Given the description of an element on the screen output the (x, y) to click on. 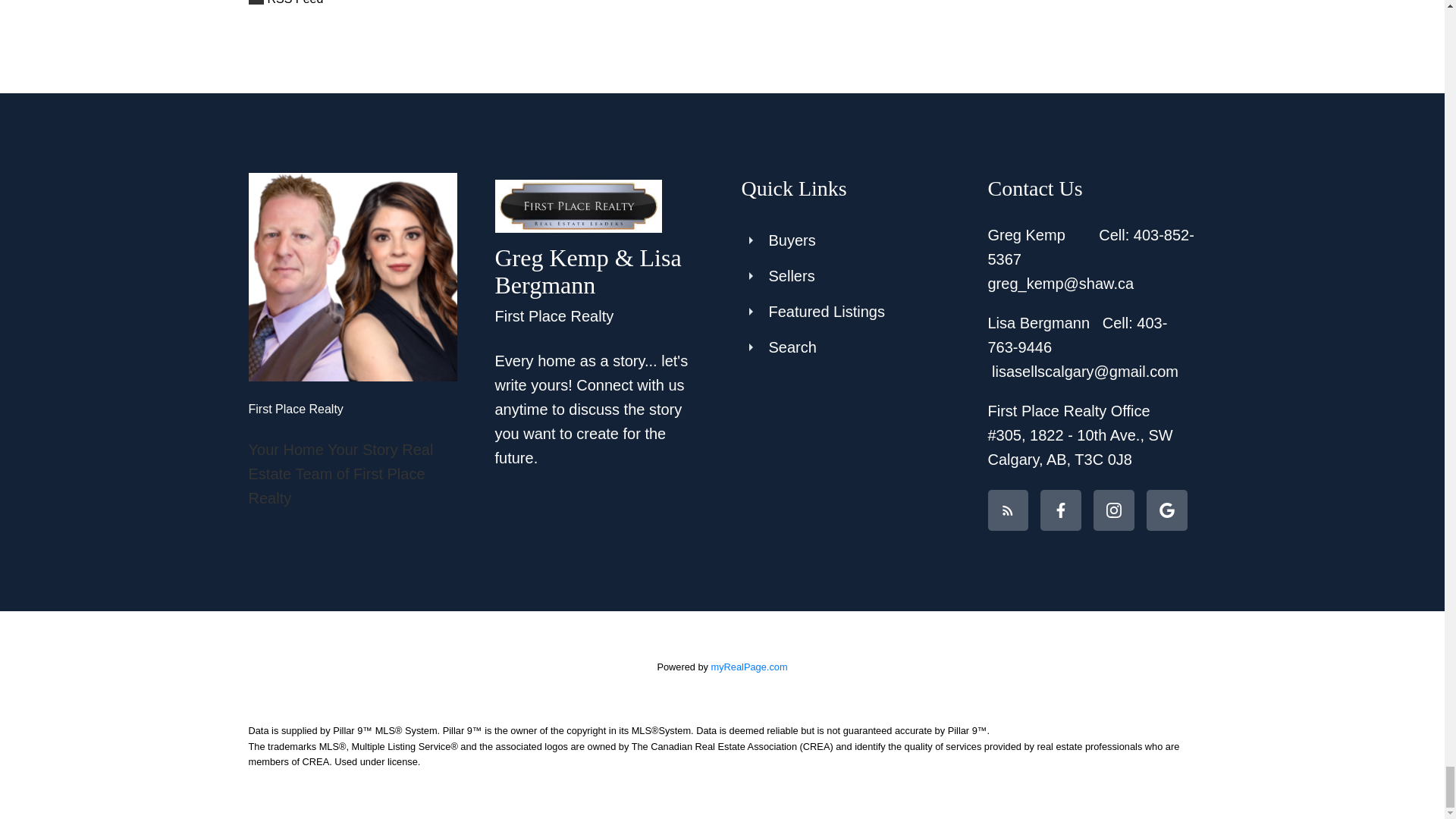
RSS (616, 4)
